Given the description of an element on the screen output the (x, y) to click on. 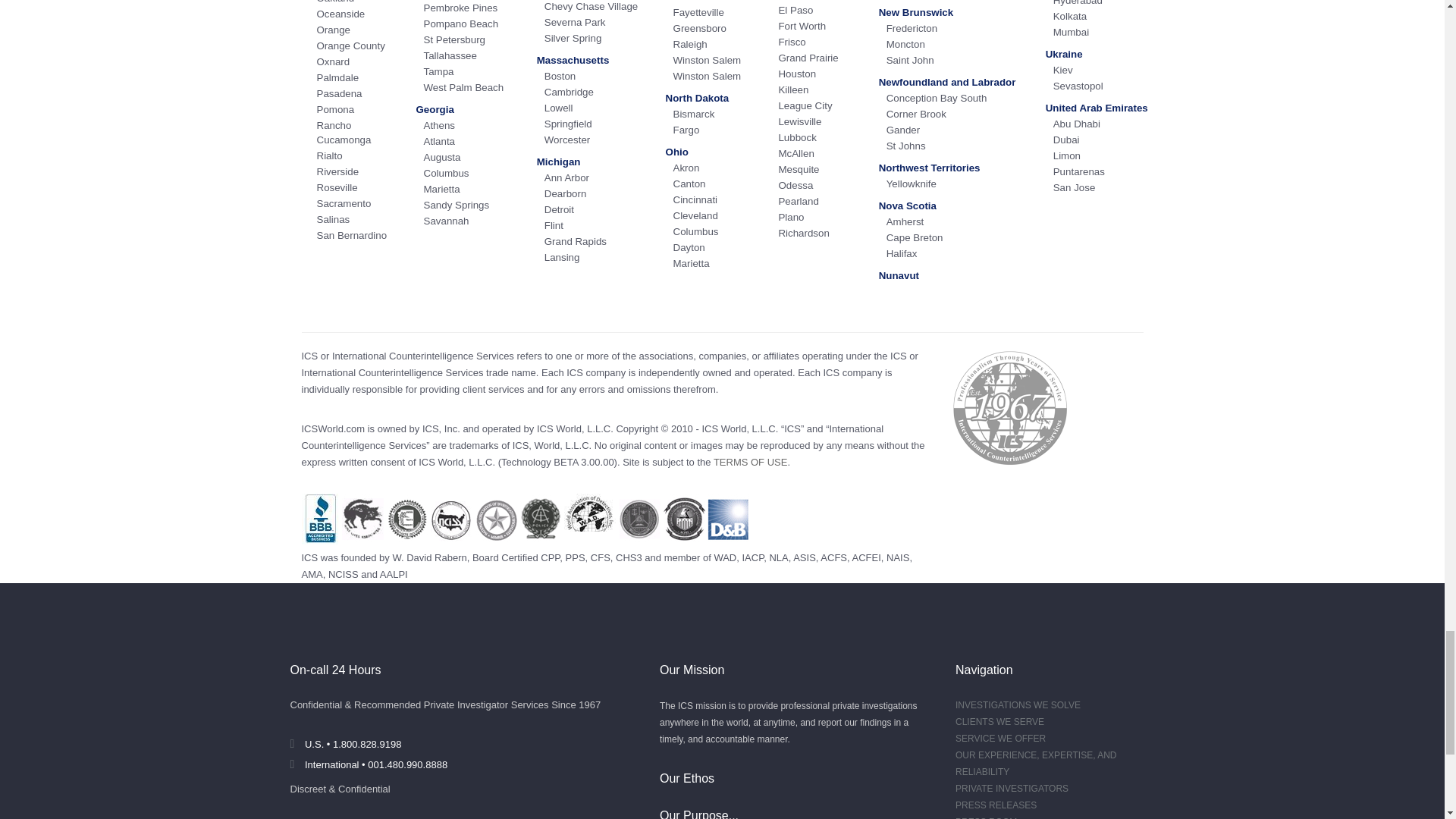
Certified Protection Professional (549, 557)
